Given the description of an element on the screen output the (x, y) to click on. 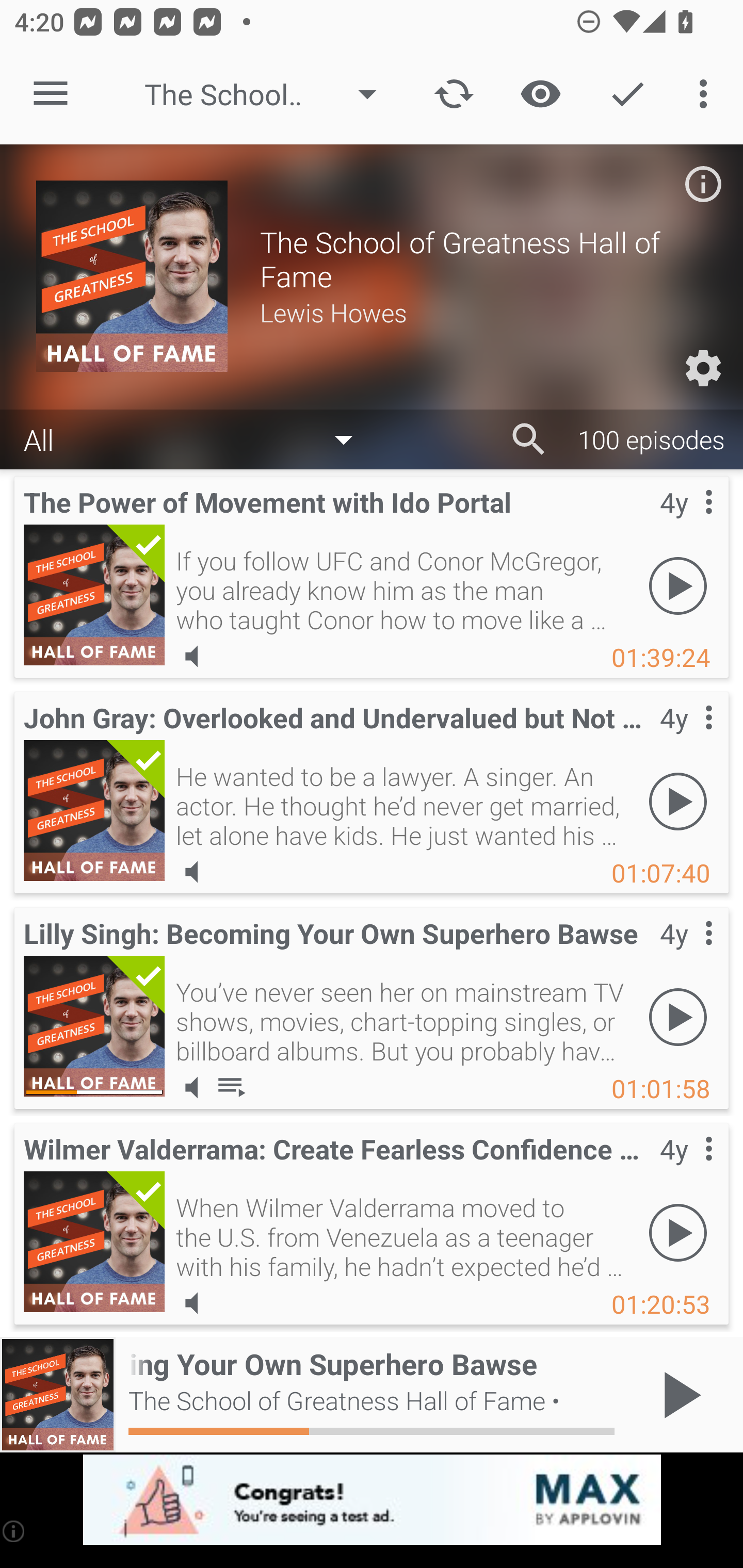
Open navigation sidebar (50, 93)
Update (453, 93)
Show / Hide played content (540, 93)
Action Mode (626, 93)
More options (706, 93)
The School of Greatness Hall of Fame (270, 94)
Podcast description (703, 184)
Lewis Howes (483, 311)
Custom Settings (703, 368)
Search (528, 439)
All (197, 438)
Contextual menu (685, 522)
The Power of Movement with Ido Portal (93, 594)
Play (677, 585)
Contextual menu (685, 738)
Play (677, 801)
Contextual menu (685, 954)
Lilly Singh: Becoming Your Own Superhero Bawse (93, 1026)
Play (677, 1016)
Contextual menu (685, 1169)
Play (677, 1232)
Play / Pause (677, 1394)
app-monetization (371, 1500)
(i) (14, 1531)
